Given the description of an element on the screen output the (x, y) to click on. 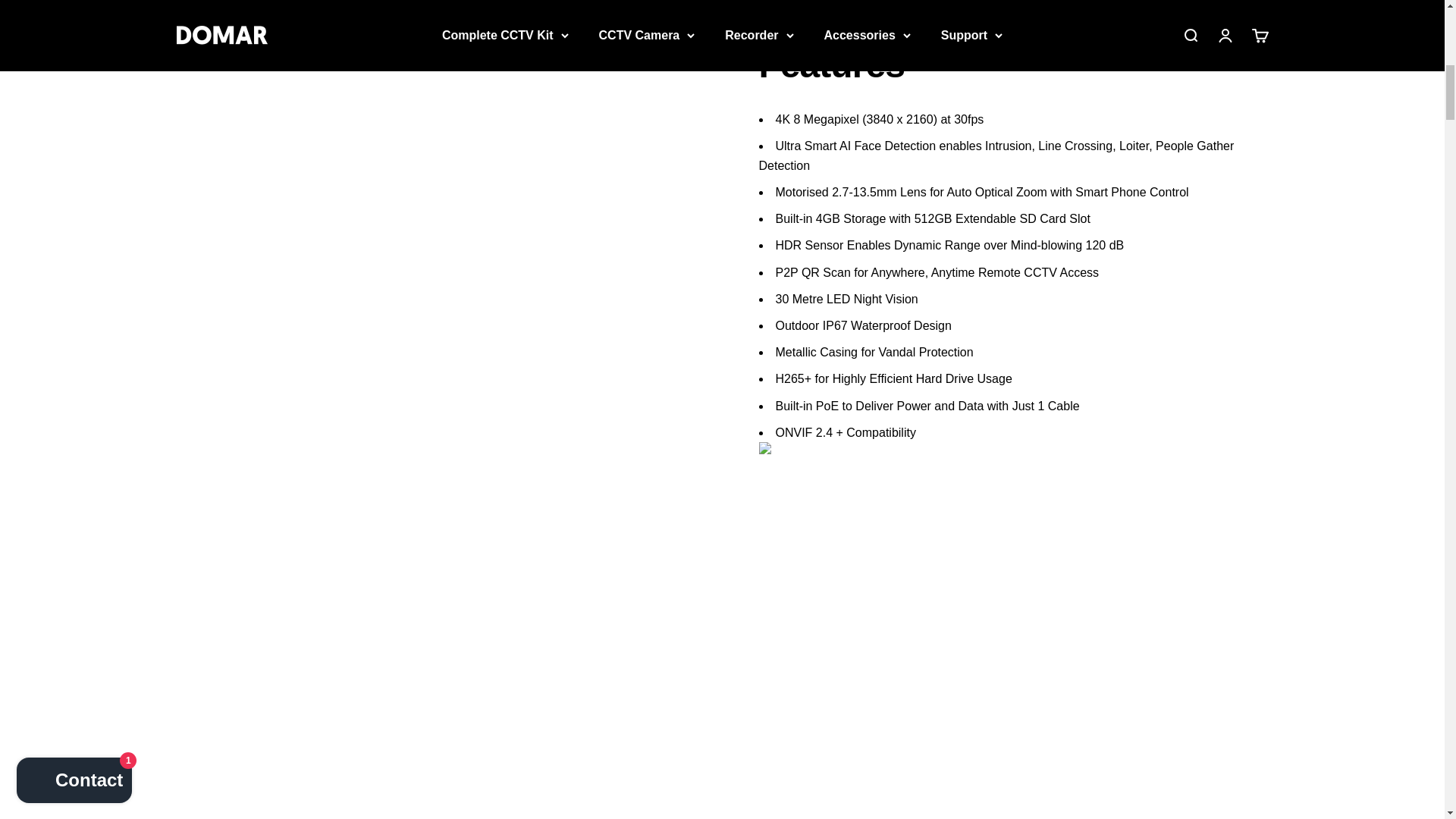
YouTube video player (970, 573)
